Given the description of an element on the screen output the (x, y) to click on. 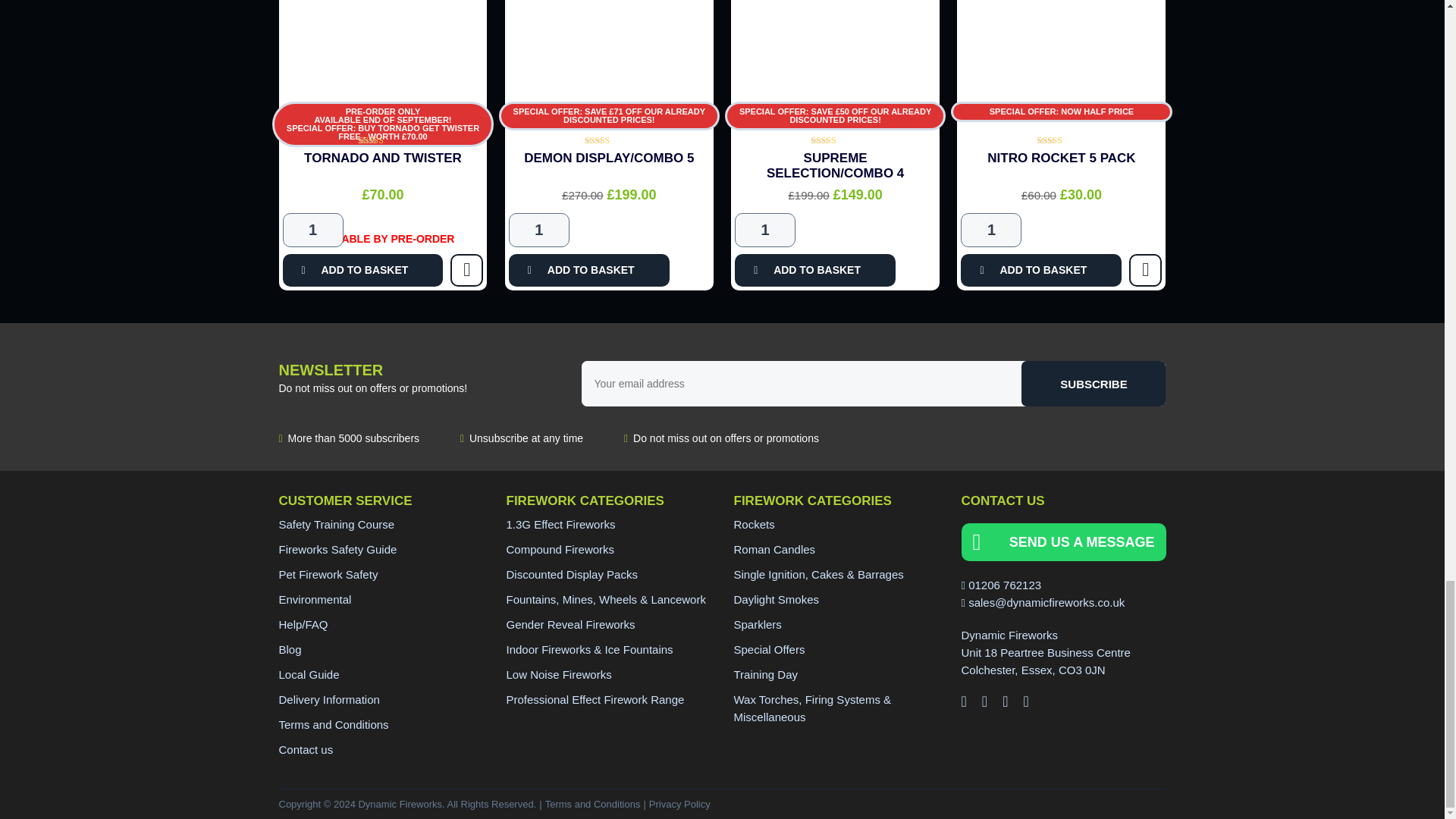
Qty (538, 229)
Subscribe (1094, 383)
Qty (764, 229)
Qty (312, 229)
1 (764, 229)
1 (991, 229)
1 (538, 229)
Qty (991, 229)
1 (312, 229)
